Given the description of an element on the screen output the (x, y) to click on. 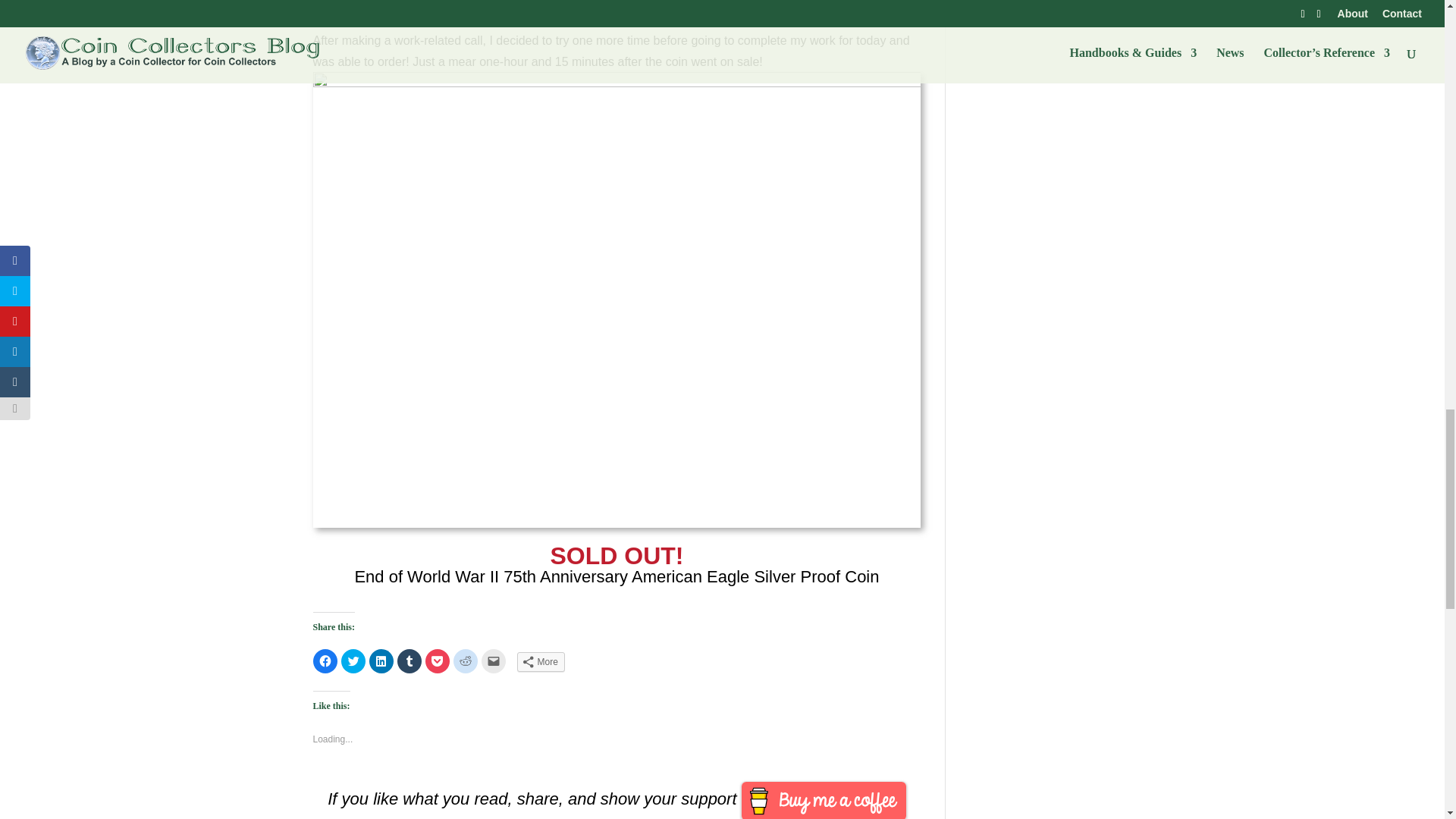
More (540, 661)
Click to share on Pocket (436, 661)
Click to share on Tumblr (409, 661)
Click to email a link to a friend (492, 661)
Click to share on LinkedIn (380, 661)
Click to share on Reddit (464, 661)
Click to share on Twitter (352, 661)
Click to share on Facebook (324, 661)
